Given the description of an element on the screen output the (x, y) to click on. 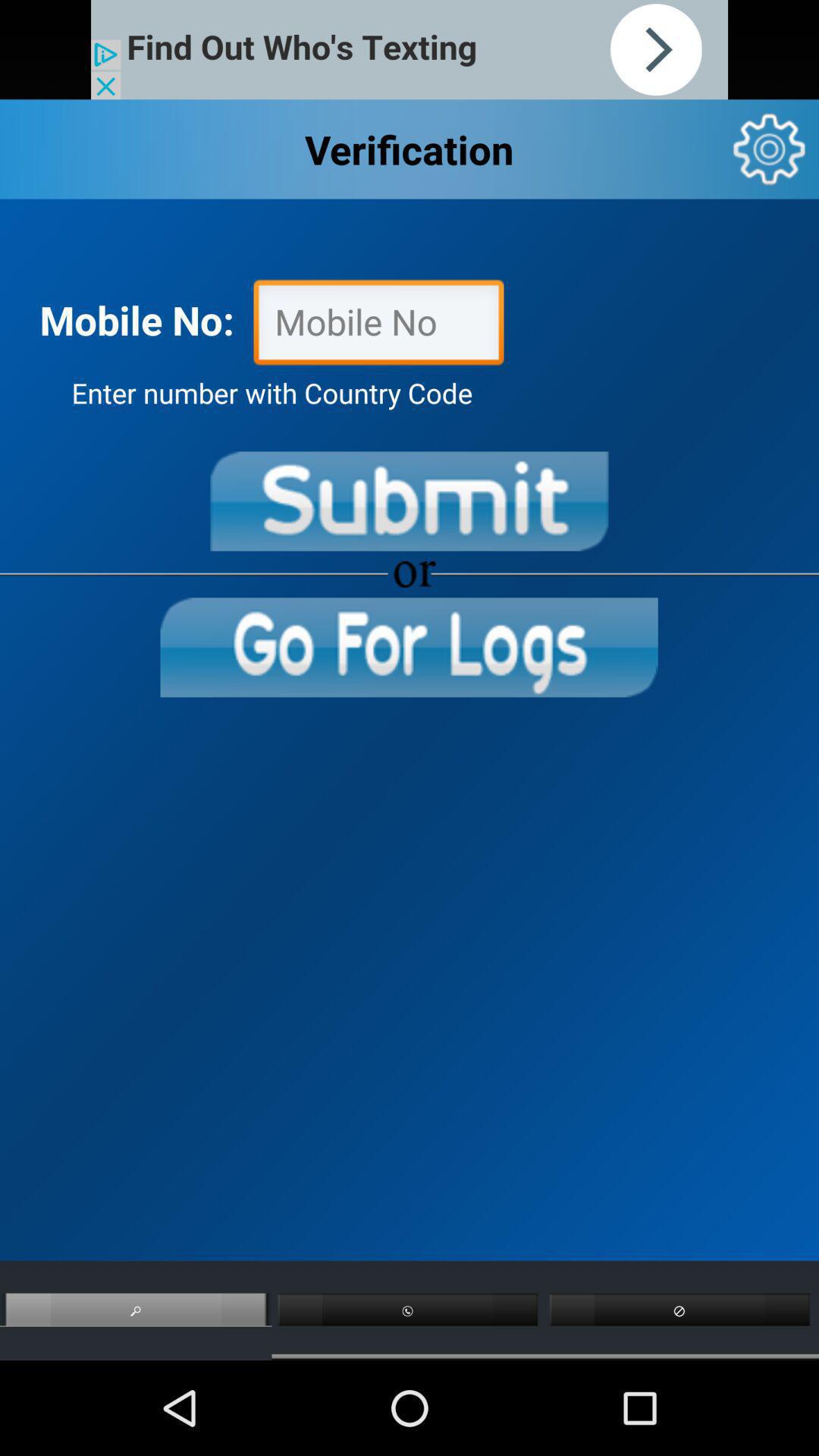
link to advertisement (409, 49)
